Given the description of an element on the screen output the (x, y) to click on. 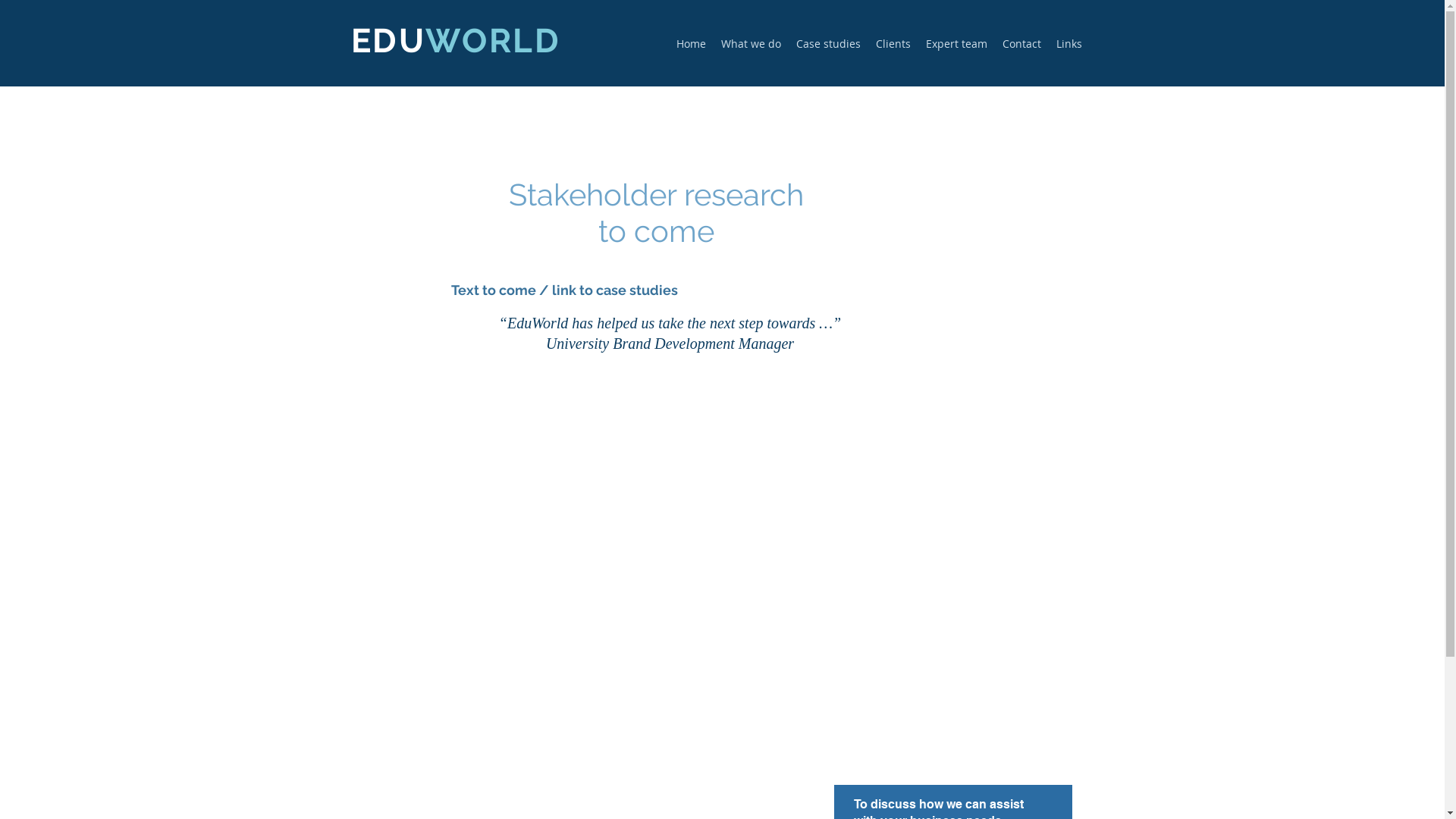
Case studies Element type: text (828, 43)
Expert team Element type: text (955, 43)
Contact Element type: text (1021, 43)
EDUWORLD Element type: text (455, 40)
What we do Element type: text (749, 43)
Home Element type: text (690, 43)
Clients Element type: text (892, 43)
Links Element type: text (1068, 43)
